Given the description of an element on the screen output the (x, y) to click on. 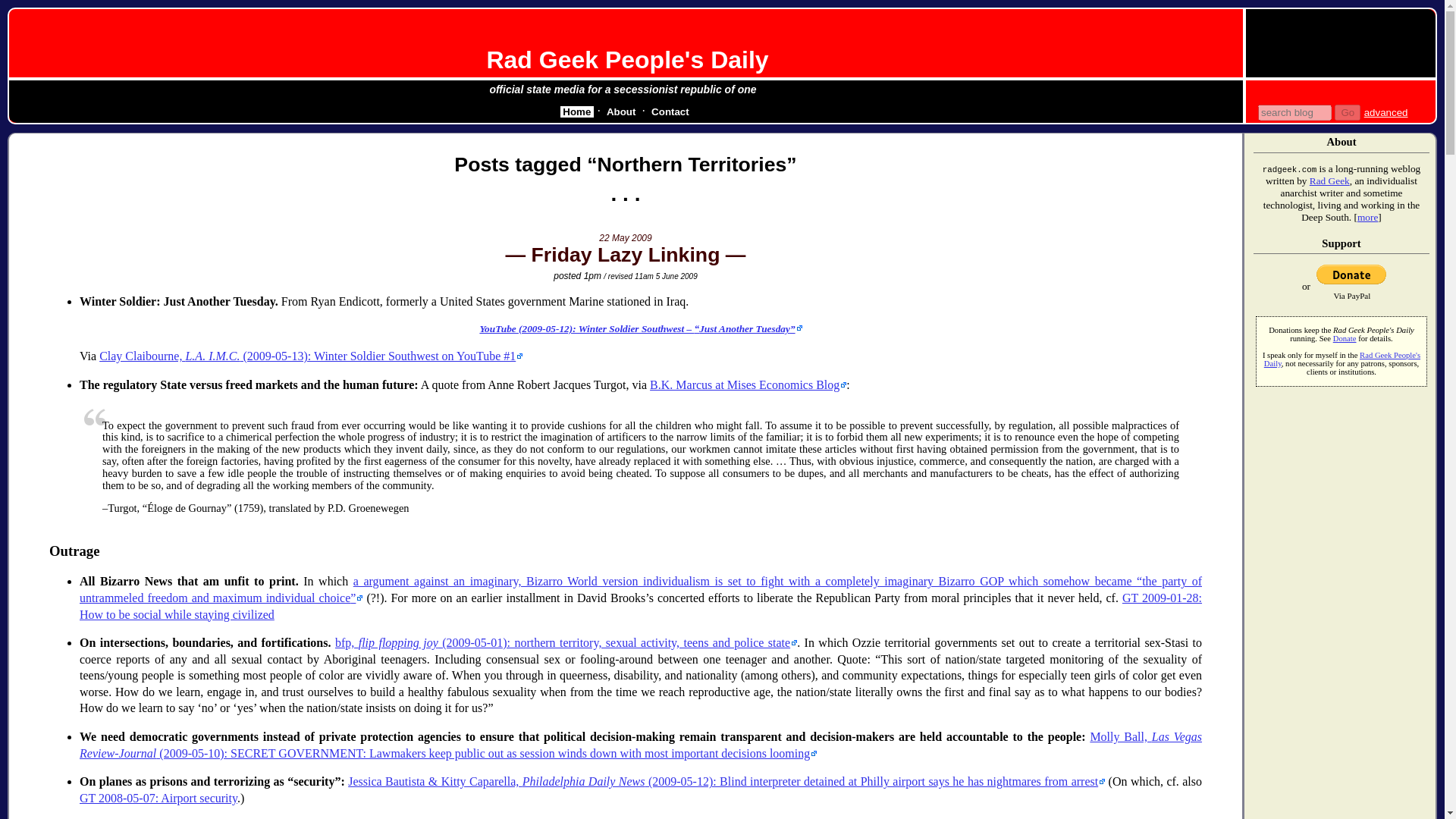
Go (1347, 112)
22 May 2009 (624, 237)
advanced (1385, 112)
Permanent Link to Friday Lazy Linking (625, 254)
Go (1347, 112)
B.K. Marcus at Mises Economics Blog (747, 384)
Rad Geek People's Daily (627, 59)
GT 2008-05-07: Airport security (158, 797)
Friday Lazy Linking (625, 254)
GT 2009-01-28: How to be social while staying civilized (641, 605)
